Given the description of an element on the screen output the (x, y) to click on. 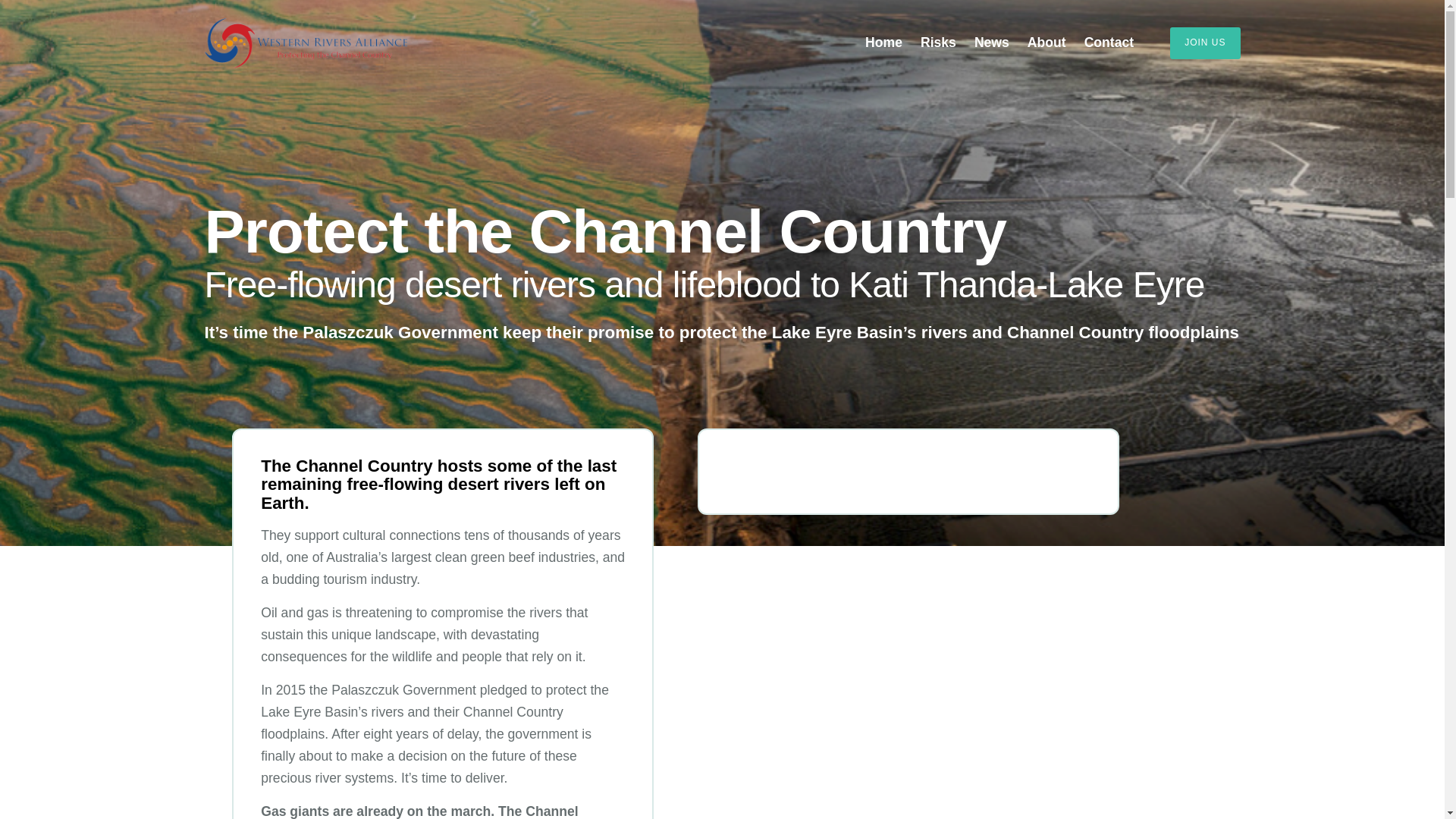
Contact Element type: text (1109, 42)
About Element type: text (1046, 42)
Home Element type: text (883, 42)
JOIN US Element type: text (1204, 43)
Risks Element type: text (938, 42)
News Element type: text (991, 42)
